Given the description of an element on the screen output the (x, y) to click on. 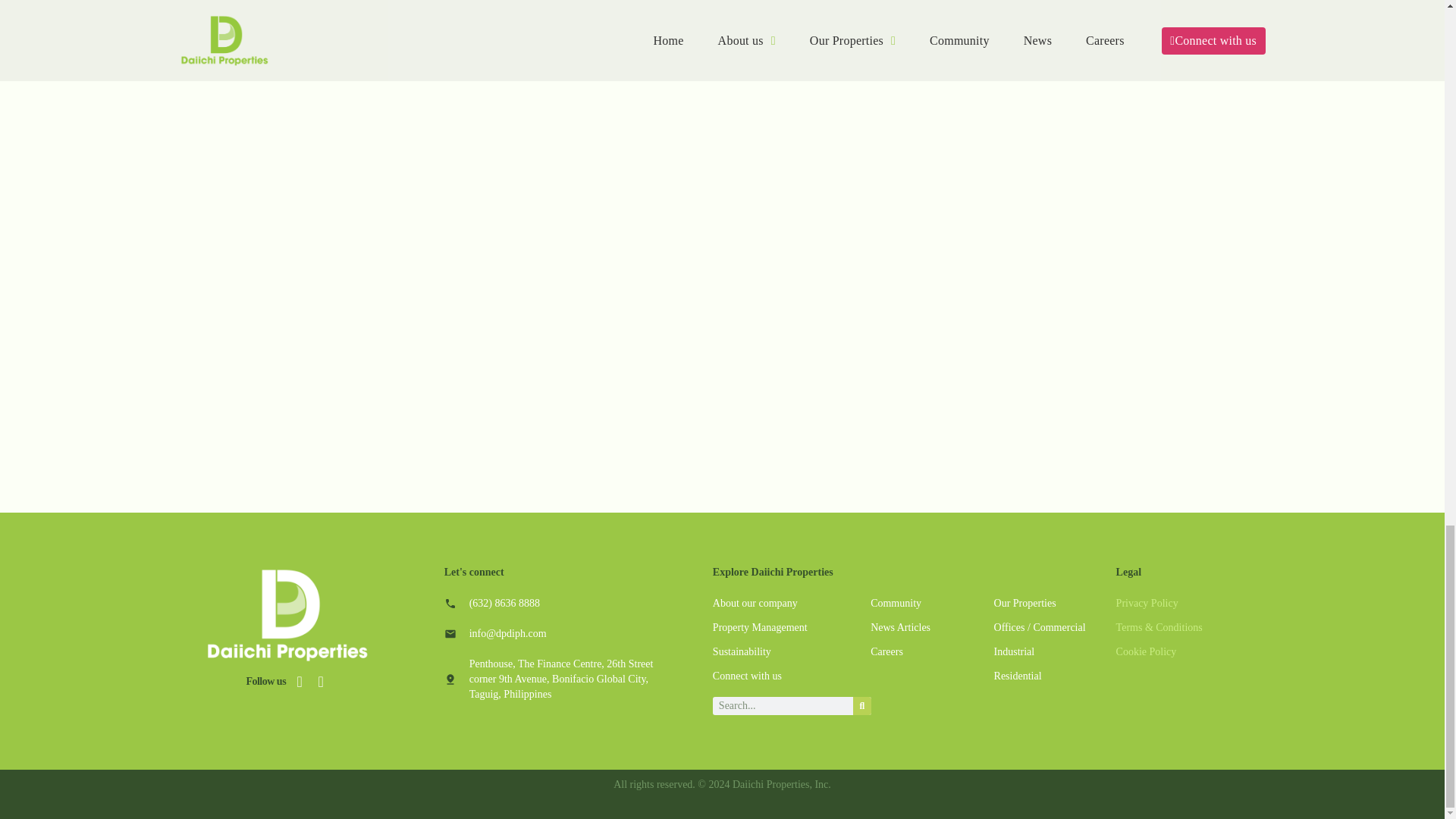
daiichi-properties-linkedin (321, 681)
daiichi-properties-instagram (299, 681)
